Given the description of an element on the screen output the (x, y) to click on. 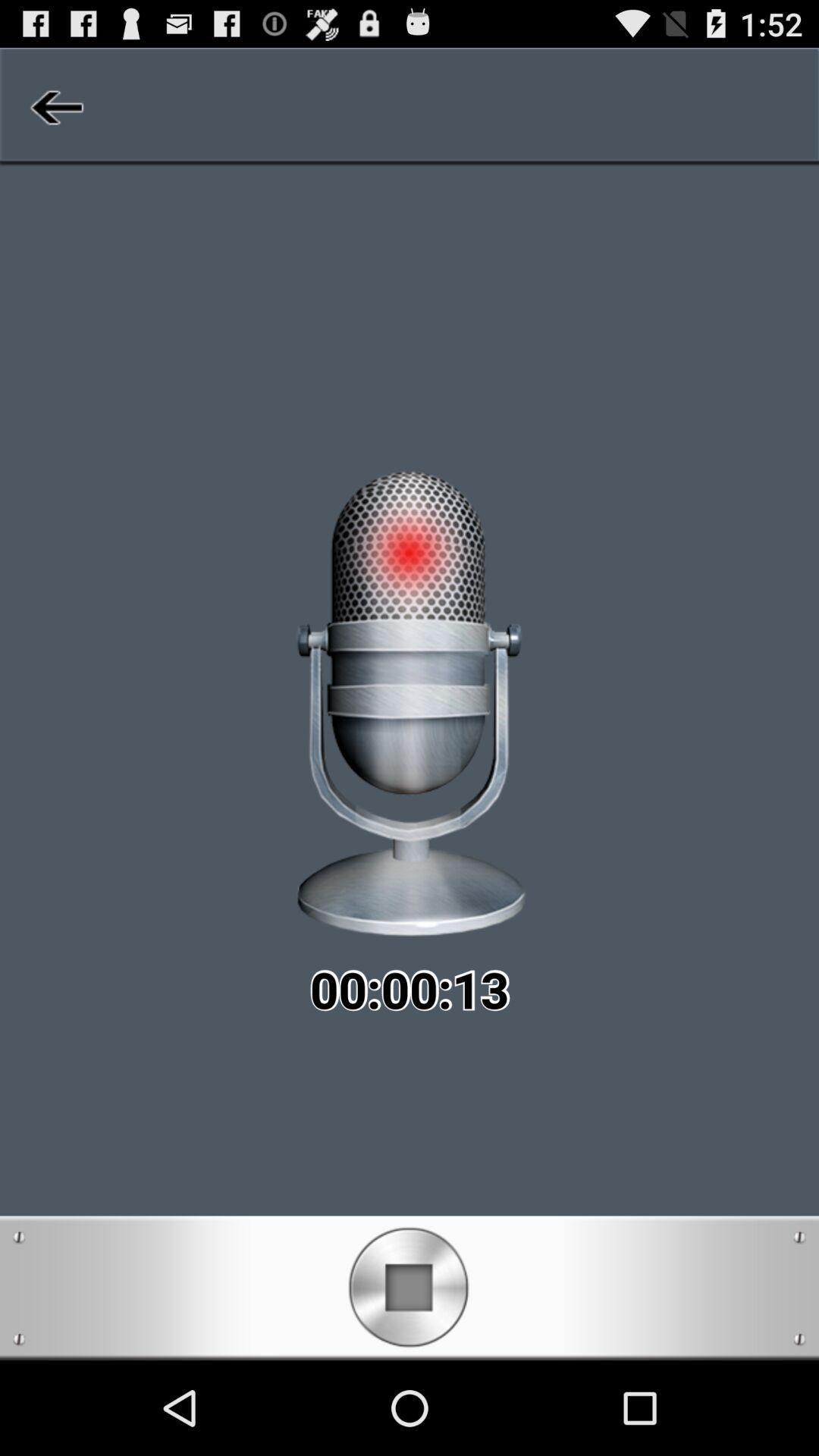
stop function (408, 1287)
